Given the description of an element on the screen output the (x, y) to click on. 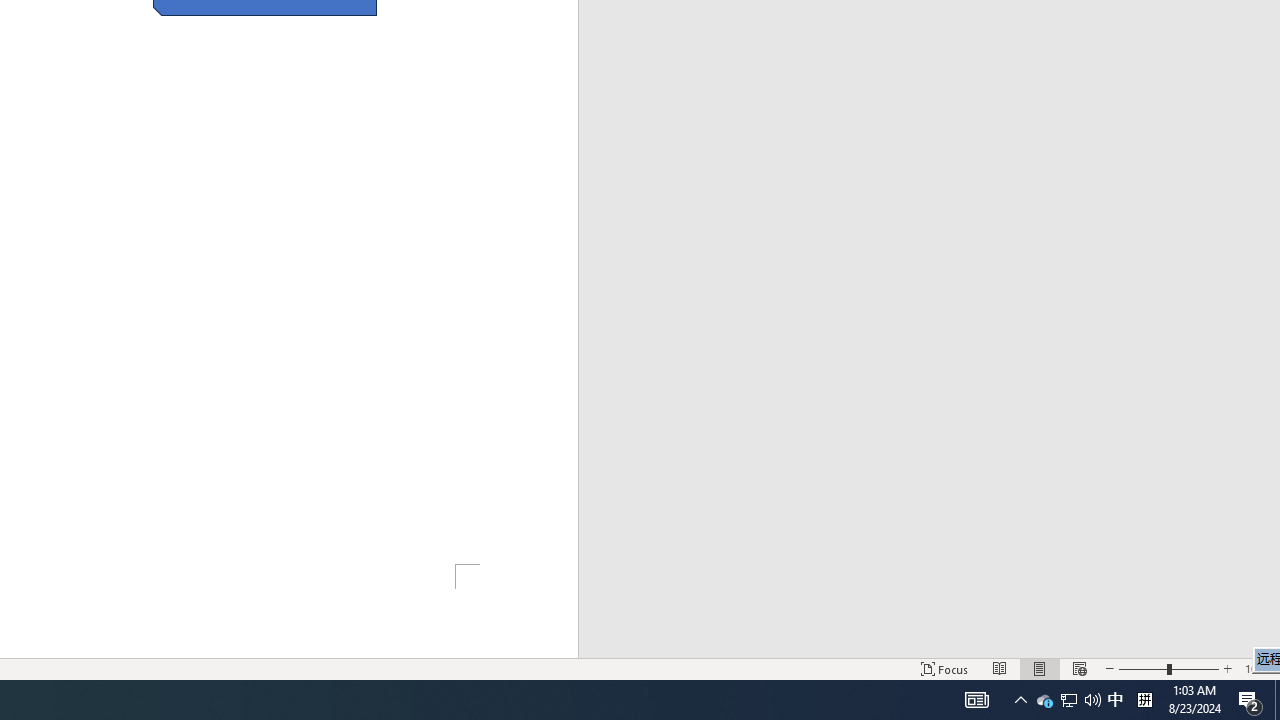
Zoom 104% (1258, 668)
